Given the description of an element on the screen output the (x, y) to click on. 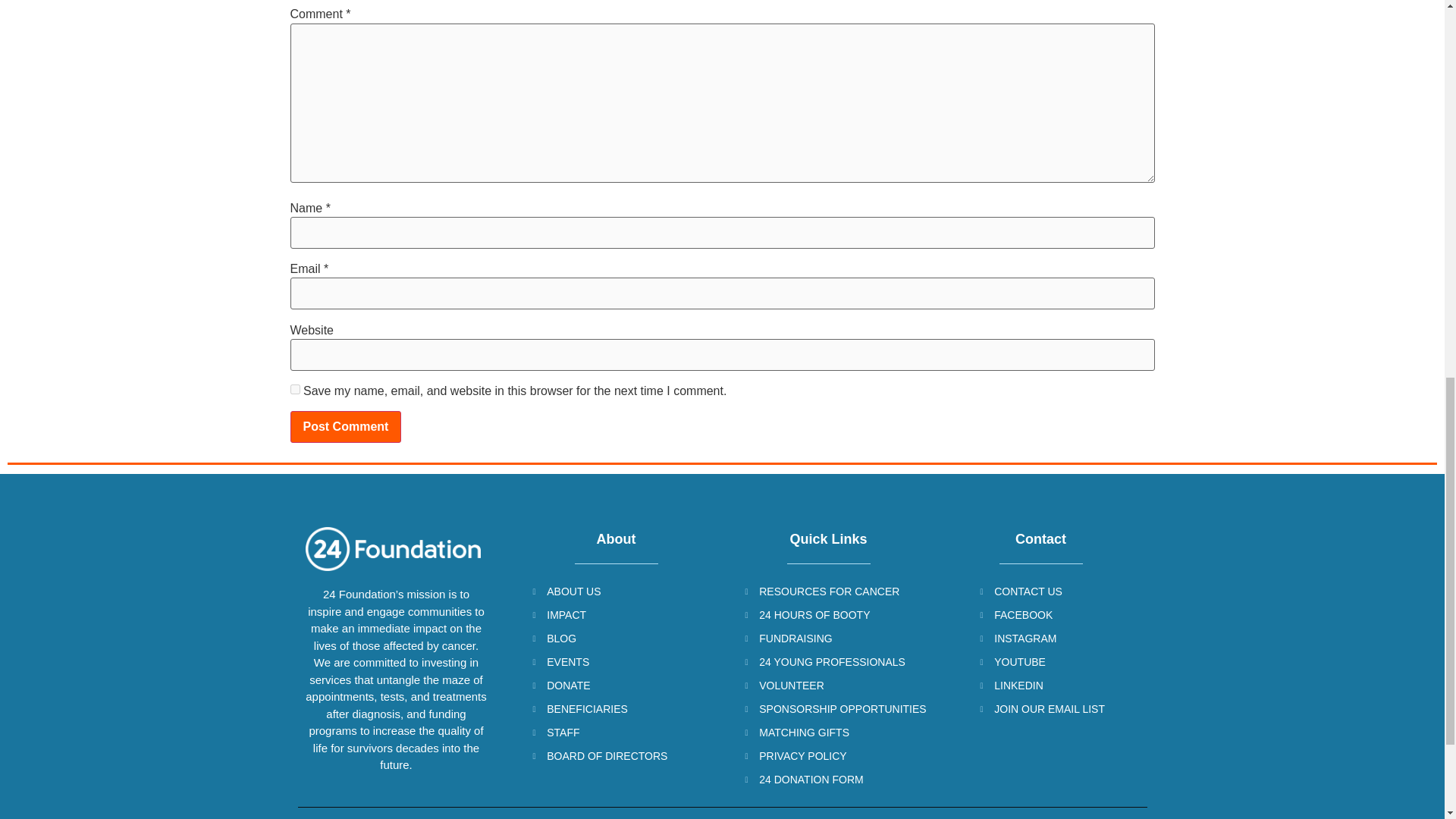
yes (294, 388)
Post Comment (345, 427)
